Given the description of an element on the screen output the (x, y) to click on. 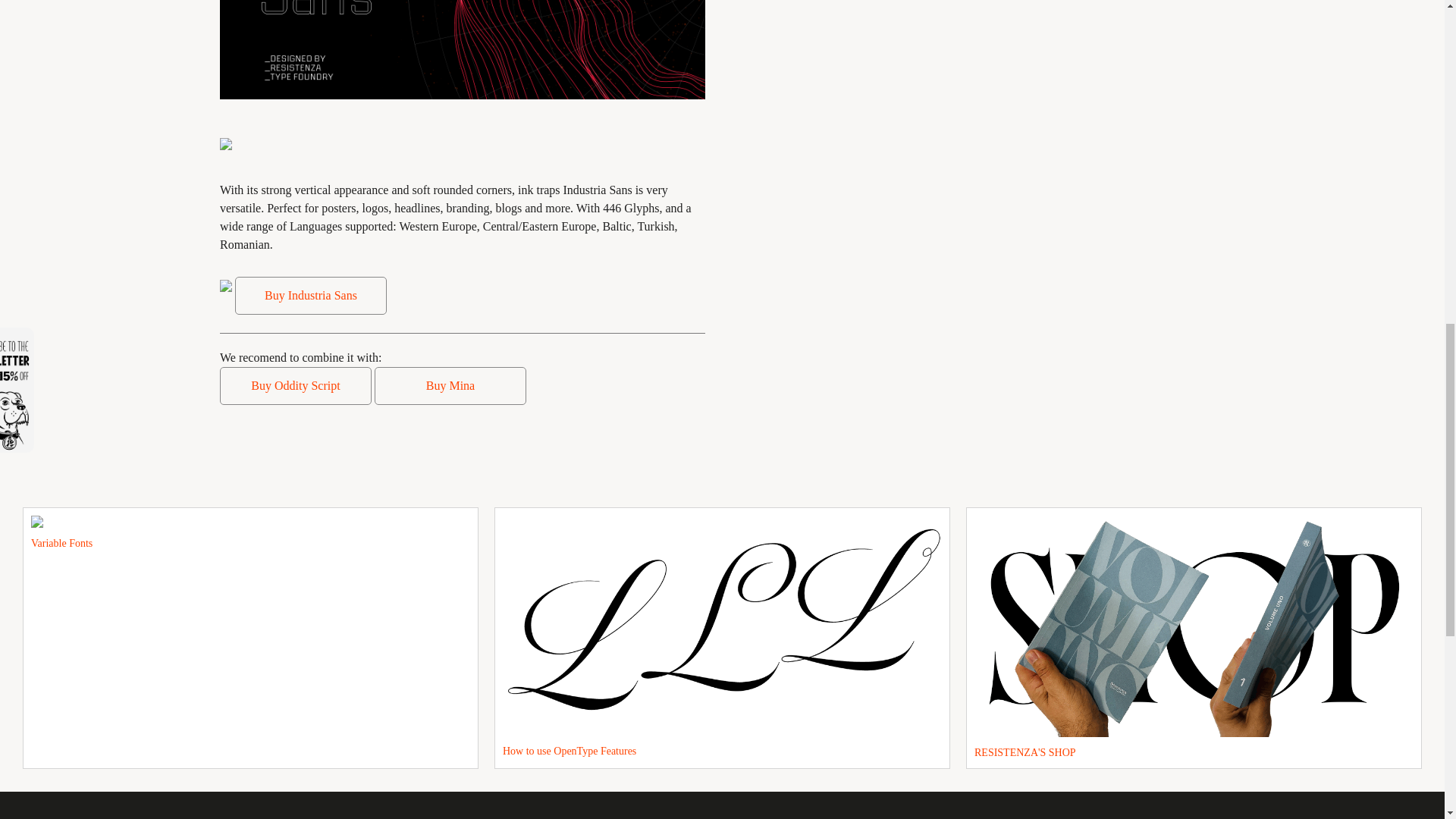
Buy Industria Sans (310, 295)
How to use OpenType Features (722, 637)
Buy Mina (449, 385)
Buy Oddity Script (294, 385)
Buy Oddity Script (295, 385)
RESISTENZA'S SHOP (1194, 637)
Variable Fonts (251, 637)
Buy Mina (450, 385)
Buy Industria Sans (310, 295)
